Given the description of an element on the screen output the (x, y) to click on. 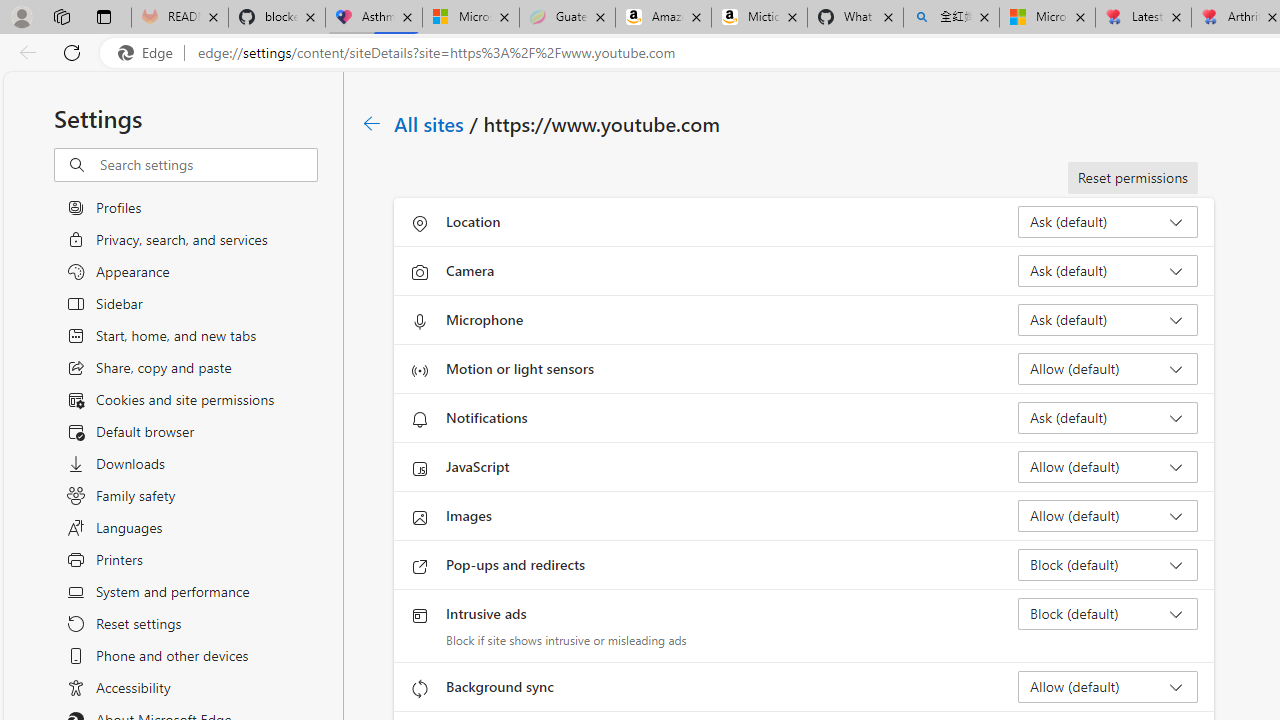
Search settings (207, 165)
Notifications Ask (default) (1107, 417)
Camera Ask (default) (1107, 270)
Edge (150, 53)
Class: c01162 (371, 123)
Background sync Allow (default) (1107, 686)
All sites (429, 123)
Reset permissions (1132, 177)
